Given the description of an element on the screen output the (x, y) to click on. 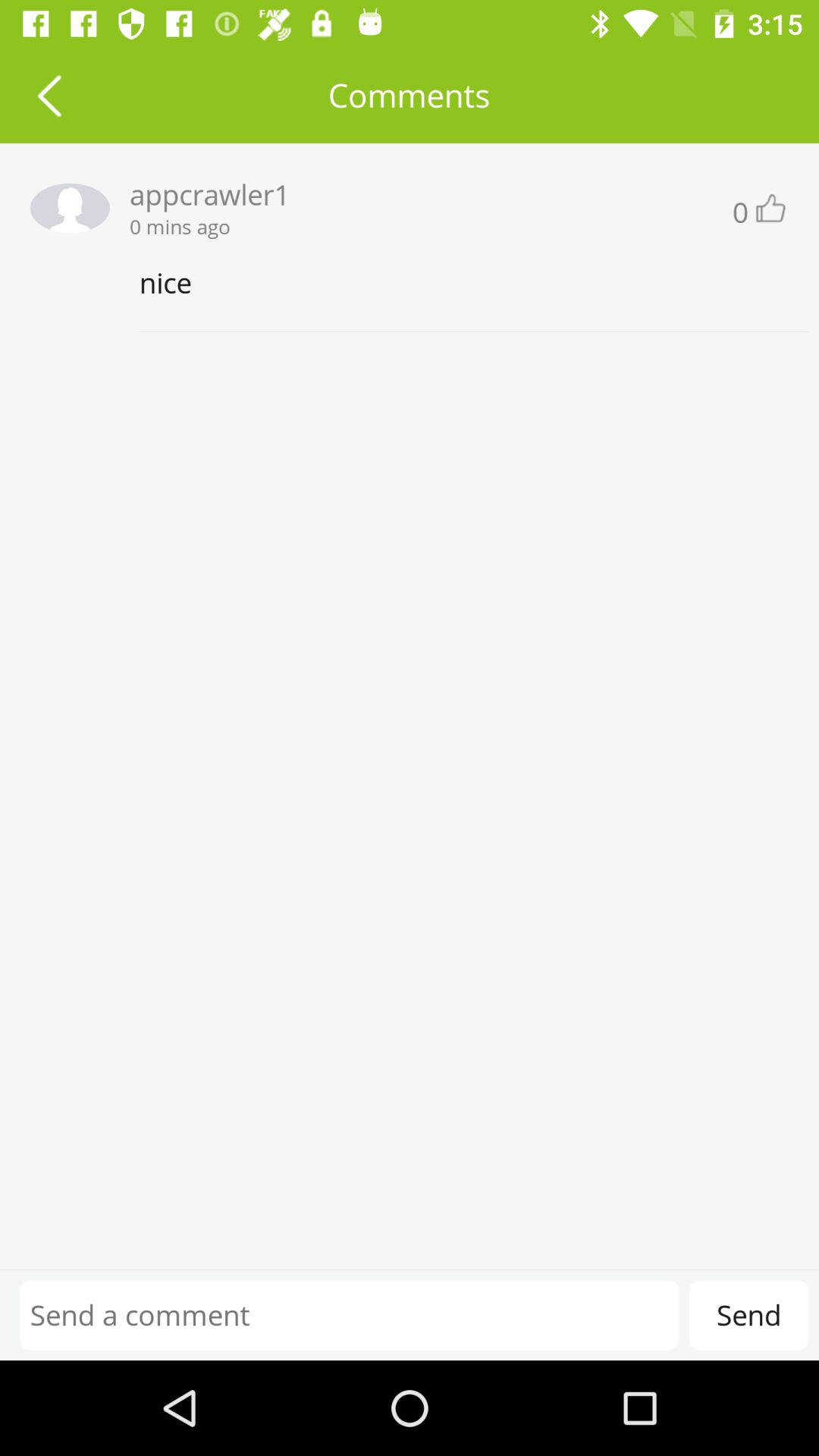
go to previous screen (48, 95)
